Given the description of an element on the screen output the (x, y) to click on. 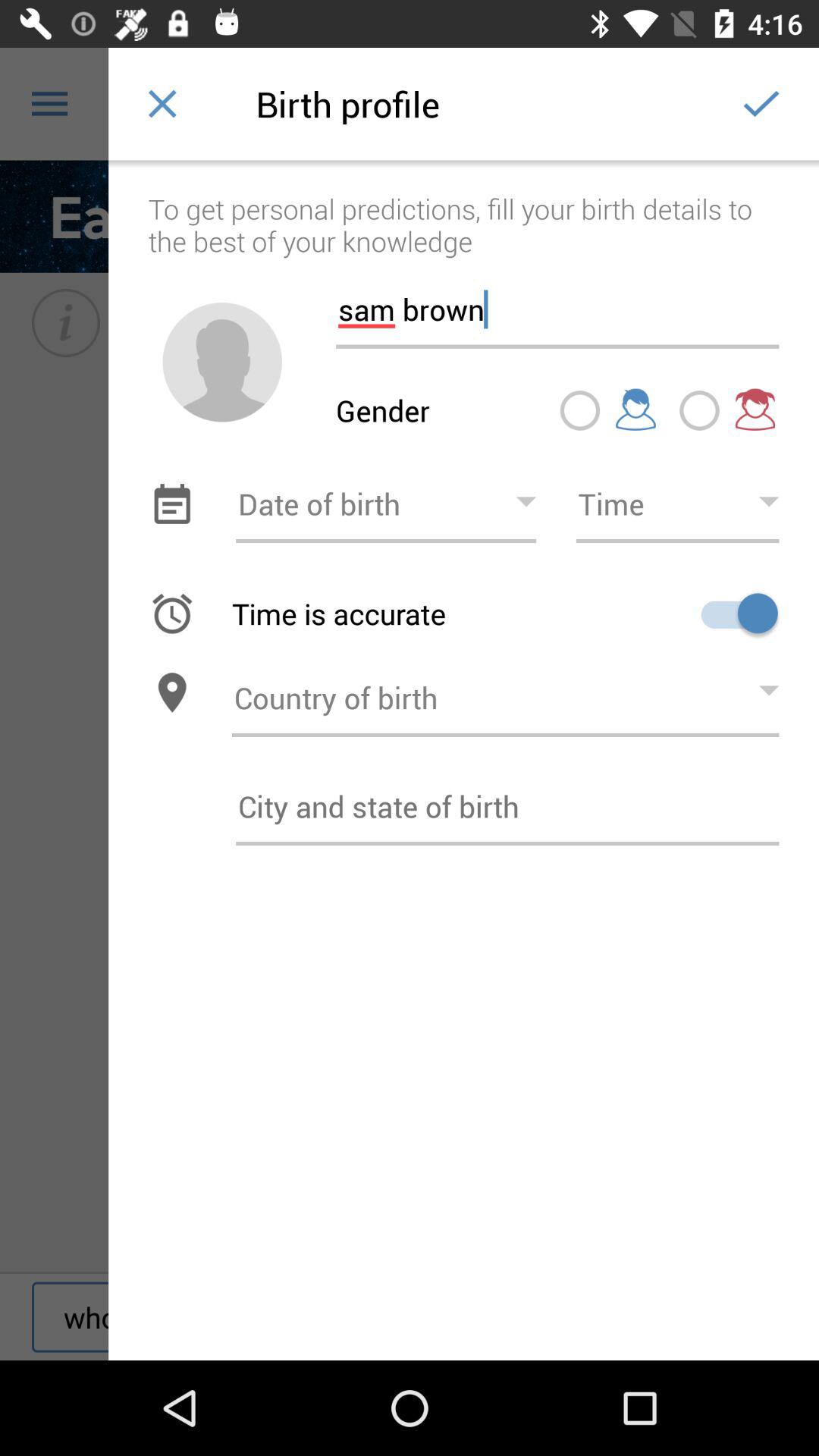
location (172, 692)
